Given the description of an element on the screen output the (x, y) to click on. 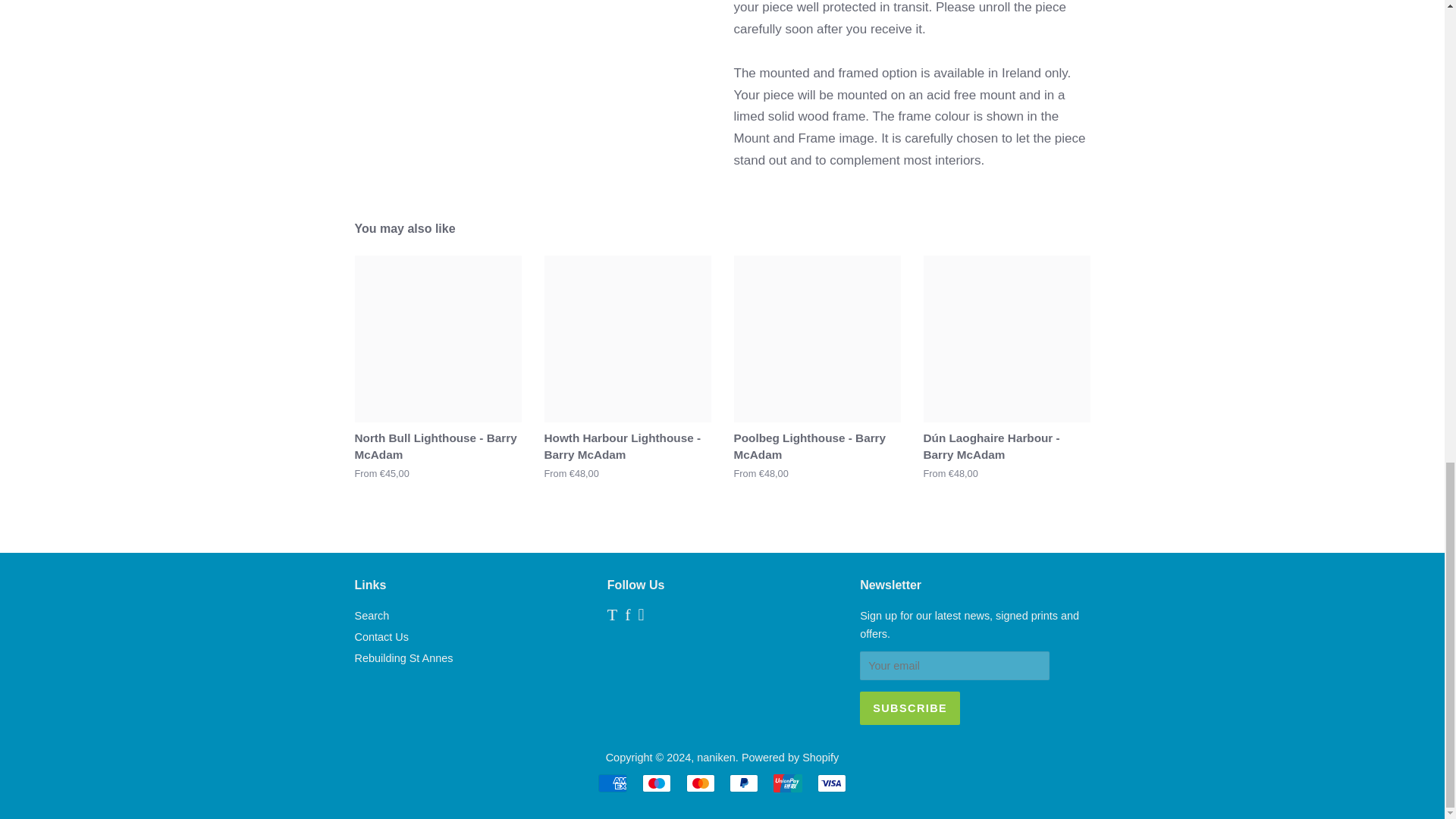
Rebuilding St Annes (403, 657)
American Express (612, 782)
Visa (830, 782)
Mastercard (699, 782)
Subscribe (909, 707)
Maestro (656, 782)
Contact Us (382, 636)
Union Pay (787, 782)
Search (372, 615)
PayPal (743, 782)
